Given the description of an element on the screen output the (x, y) to click on. 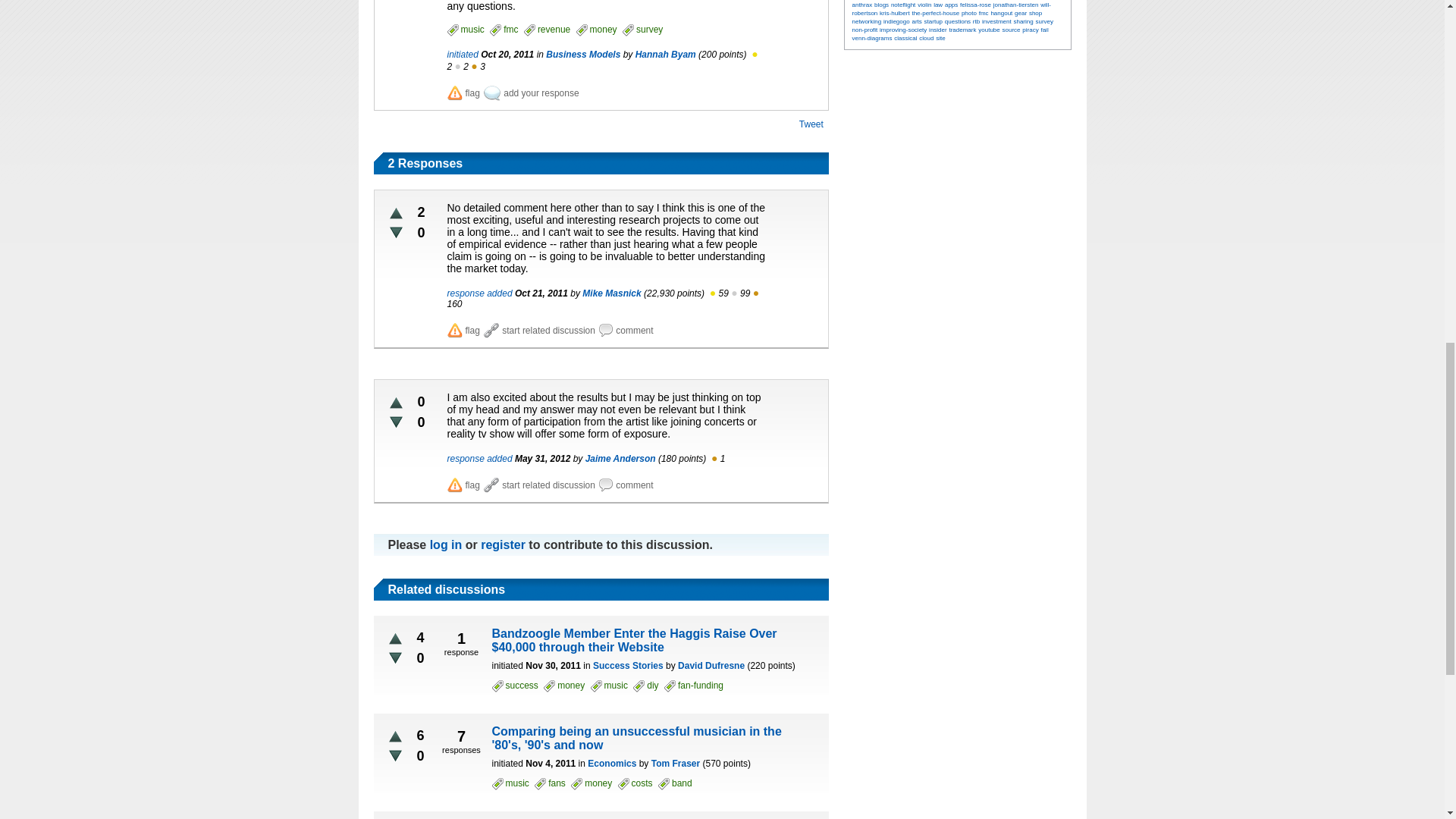
flag (463, 330)
Click to vote up (396, 213)
59 Gold (722, 293)
99 Silver (744, 293)
flag (463, 93)
comment (625, 330)
Flag this discussion subject as spam or inappropriate (463, 93)
Click to vote down (396, 232)
flag (463, 484)
start related discussion (539, 484)
